Given the description of an element on the screen output the (x, y) to click on. 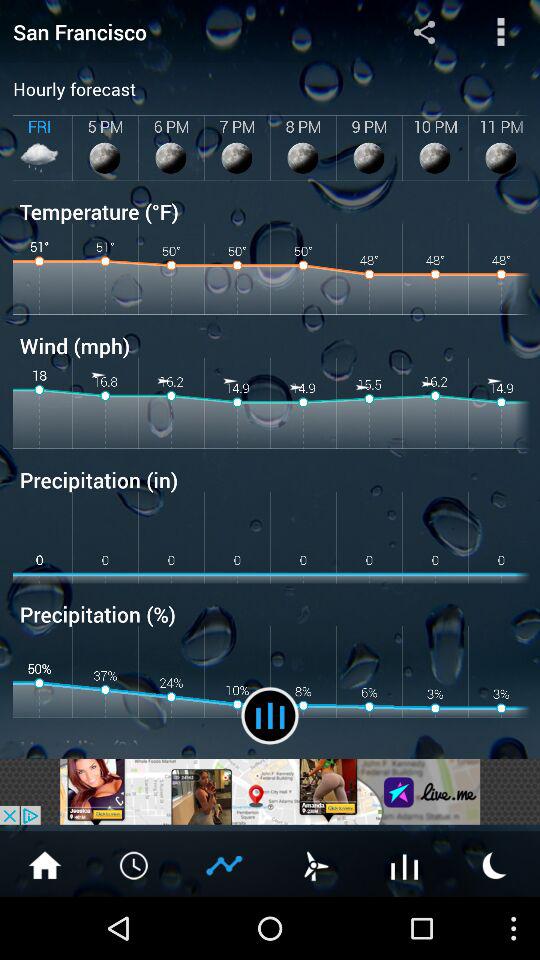
see trends (225, 864)
